Given the description of an element on the screen output the (x, y) to click on. 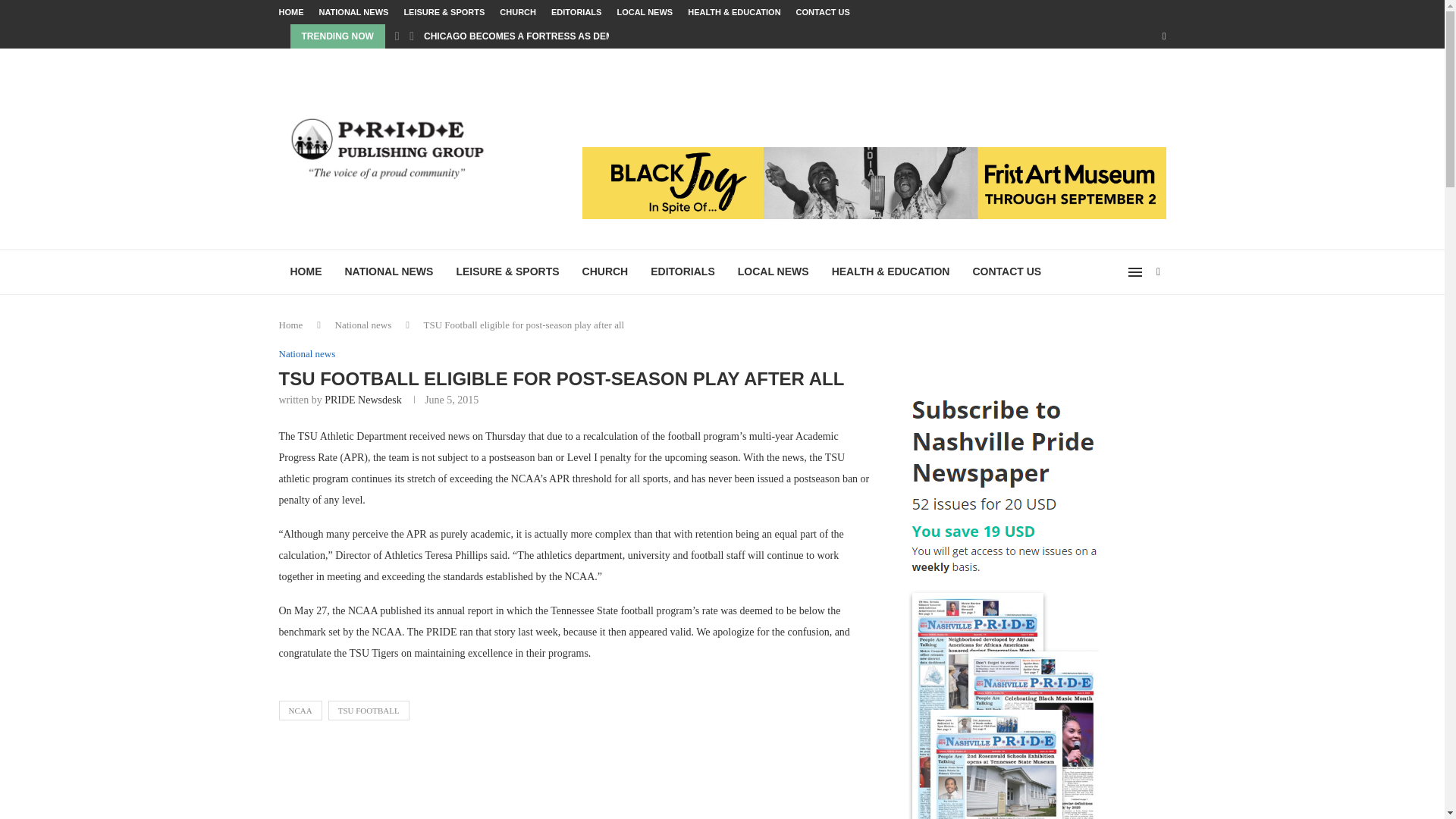
LOCAL NEWS (773, 271)
National news (362, 324)
EDITORIALS (576, 12)
CHURCH (517, 12)
HOME (306, 271)
NATIONAL NEWS (389, 271)
HOME (291, 12)
CONTACT US (1006, 271)
NATIONAL NEWS (353, 12)
